Given the description of an element on the screen output the (x, y) to click on. 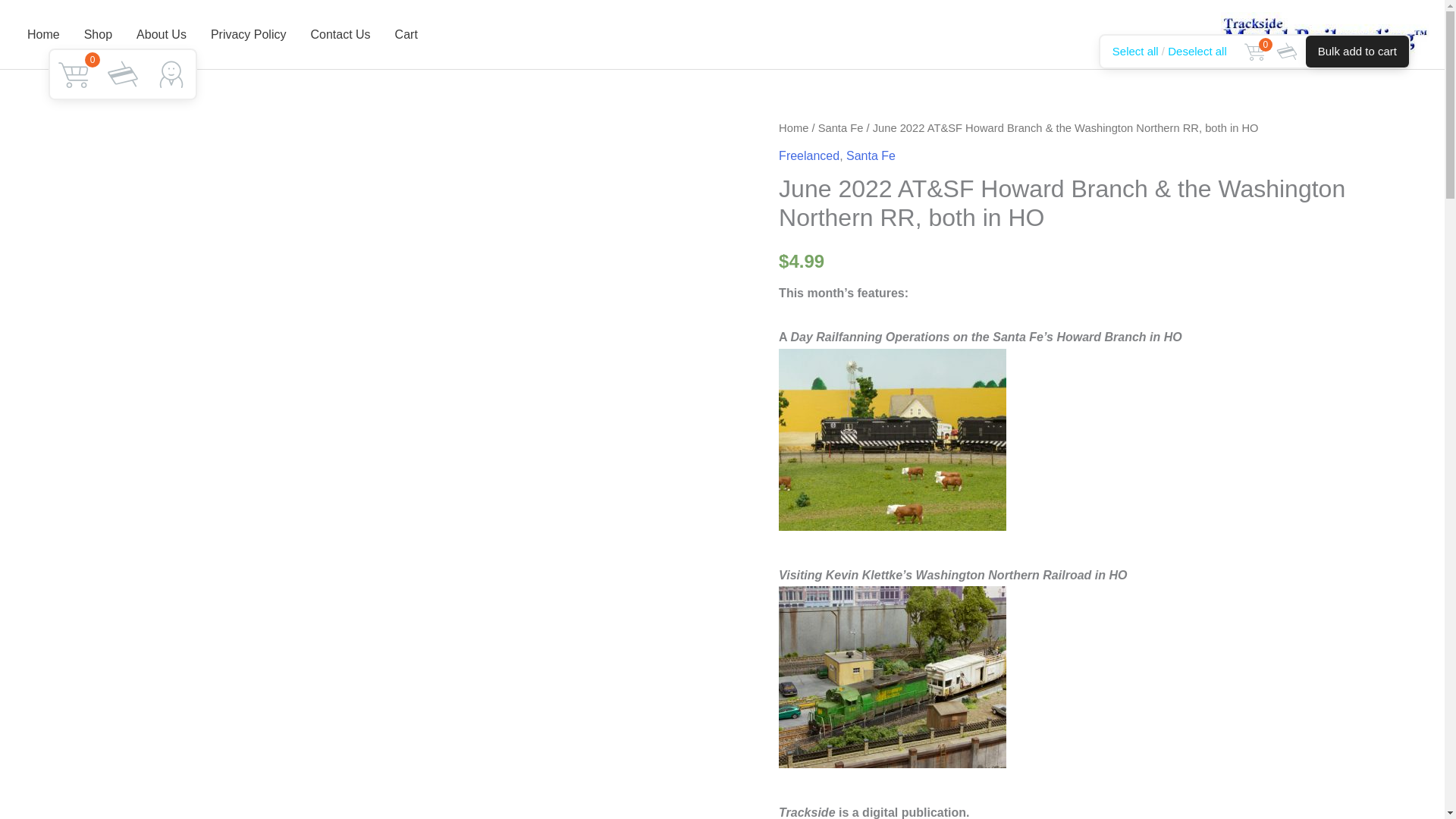
Santa Fe (840, 128)
Contact Us (339, 34)
Home (793, 128)
Freelanced (809, 155)
Home (42, 34)
About Us (160, 34)
Shop (97, 34)
Privacy Policy (248, 34)
Cart (405, 34)
Santa Fe (870, 155)
